Given the description of an element on the screen output the (x, y) to click on. 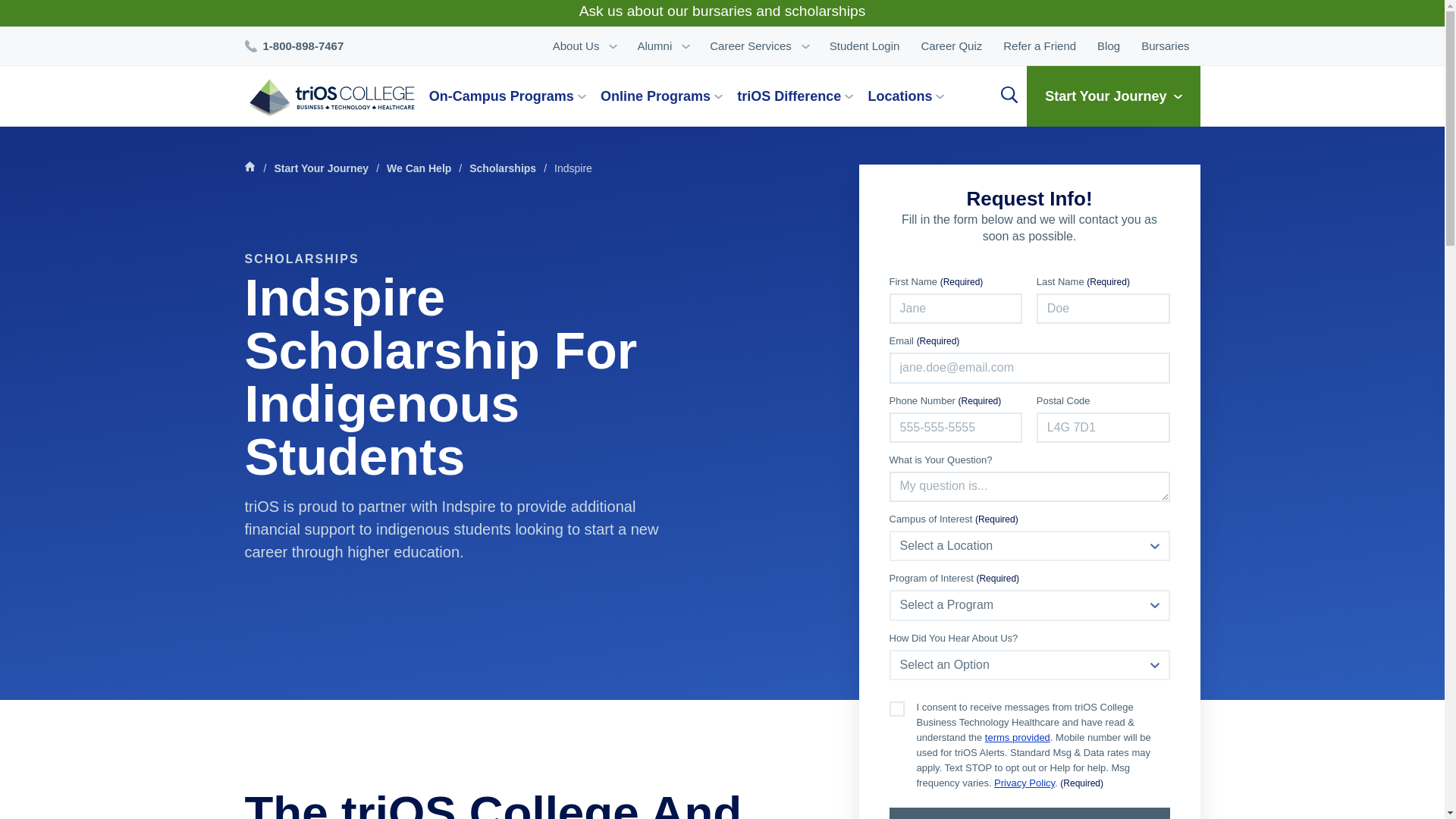
Online Programs (666, 96)
Phone Number (299, 45)
We Can Help (419, 167)
triOS College home page (328, 99)
Scholarships (502, 167)
On-Campus Programs (511, 96)
Start Your Journey (321, 167)
